Given the description of an element on the screen output the (x, y) to click on. 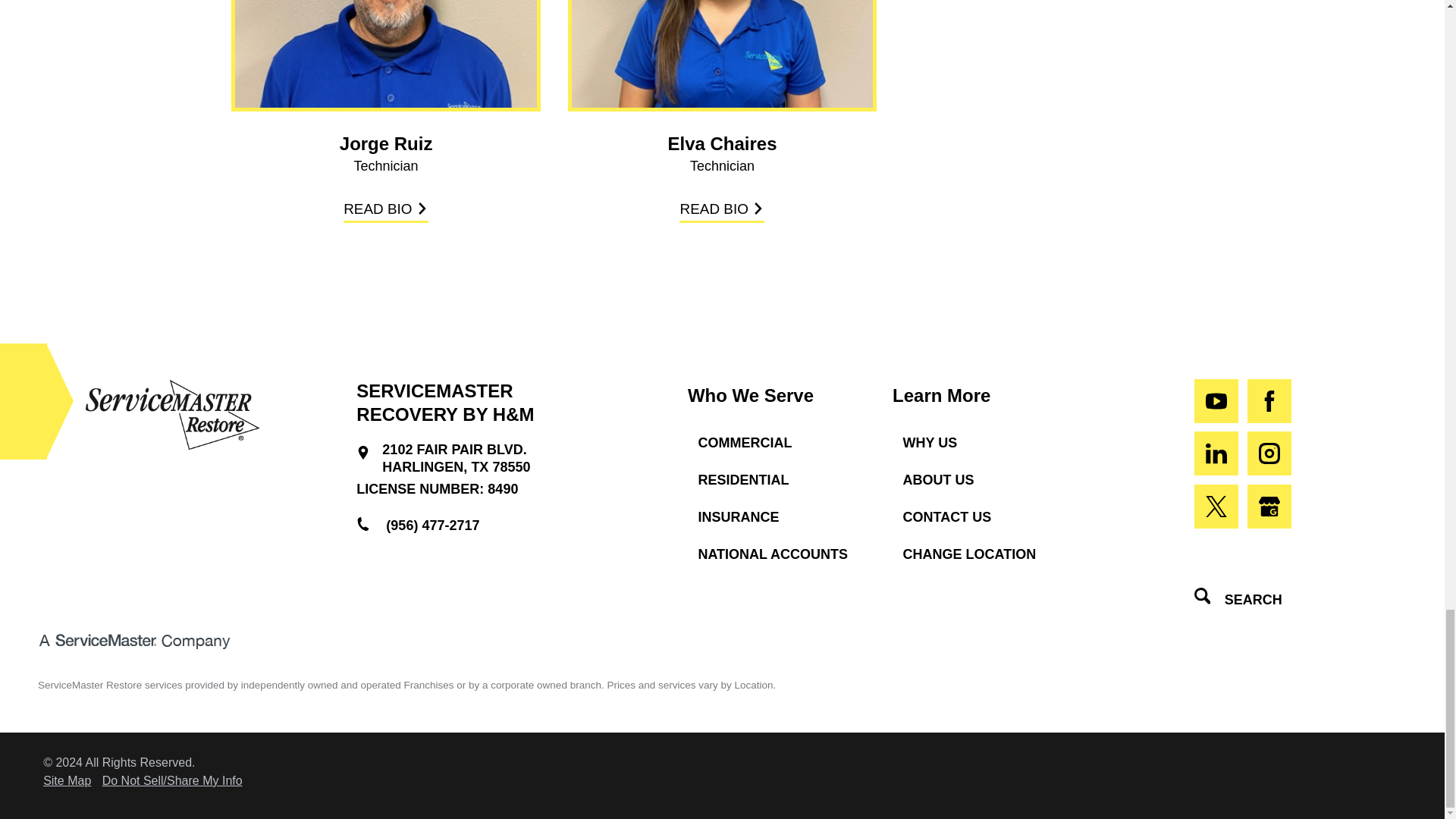
Youtube (1216, 401)
Linkedin (1216, 453)
Instagram (1269, 453)
Google My Business (1269, 506)
Twitter (1216, 506)
A Service Master Company Logo (133, 641)
Facebook (1269, 401)
